Given the description of an element on the screen output the (x, y) to click on. 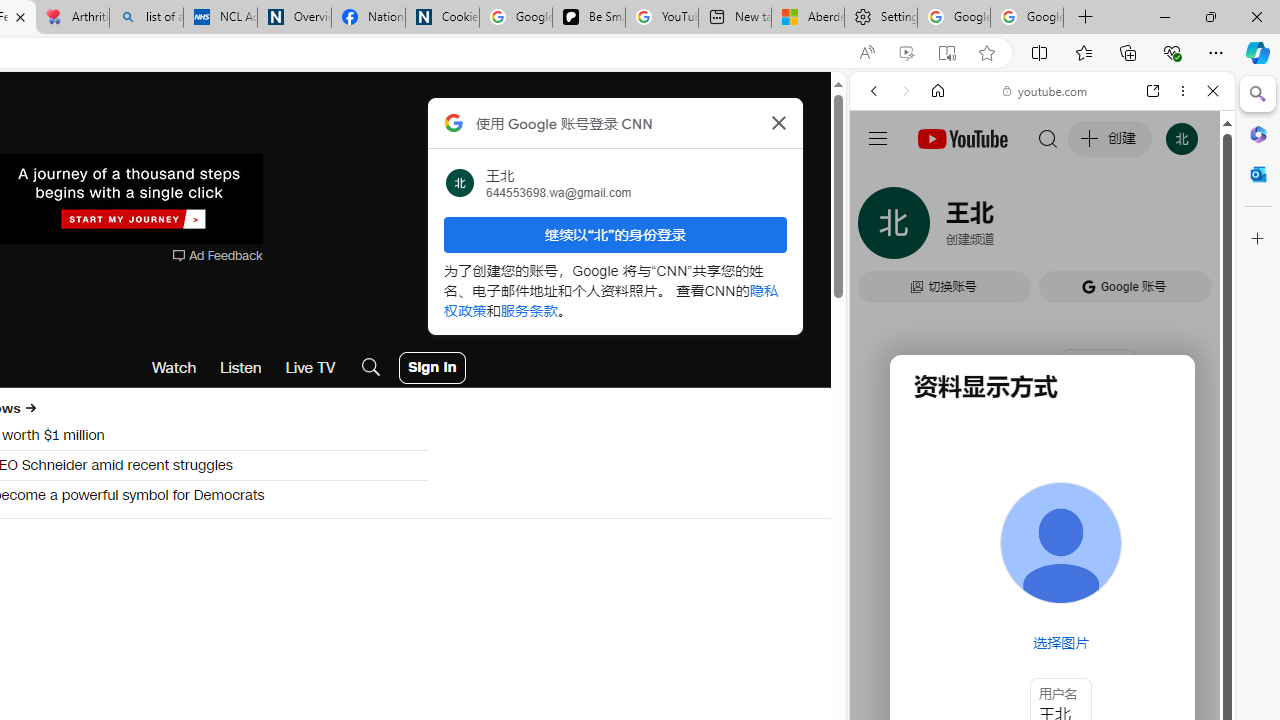
Preferences (1189, 228)
YouTube (1034, 296)
Google (947, 584)
Trailer #2 [HD] (1042, 594)
